Given the description of an element on the screen output the (x, y) to click on. 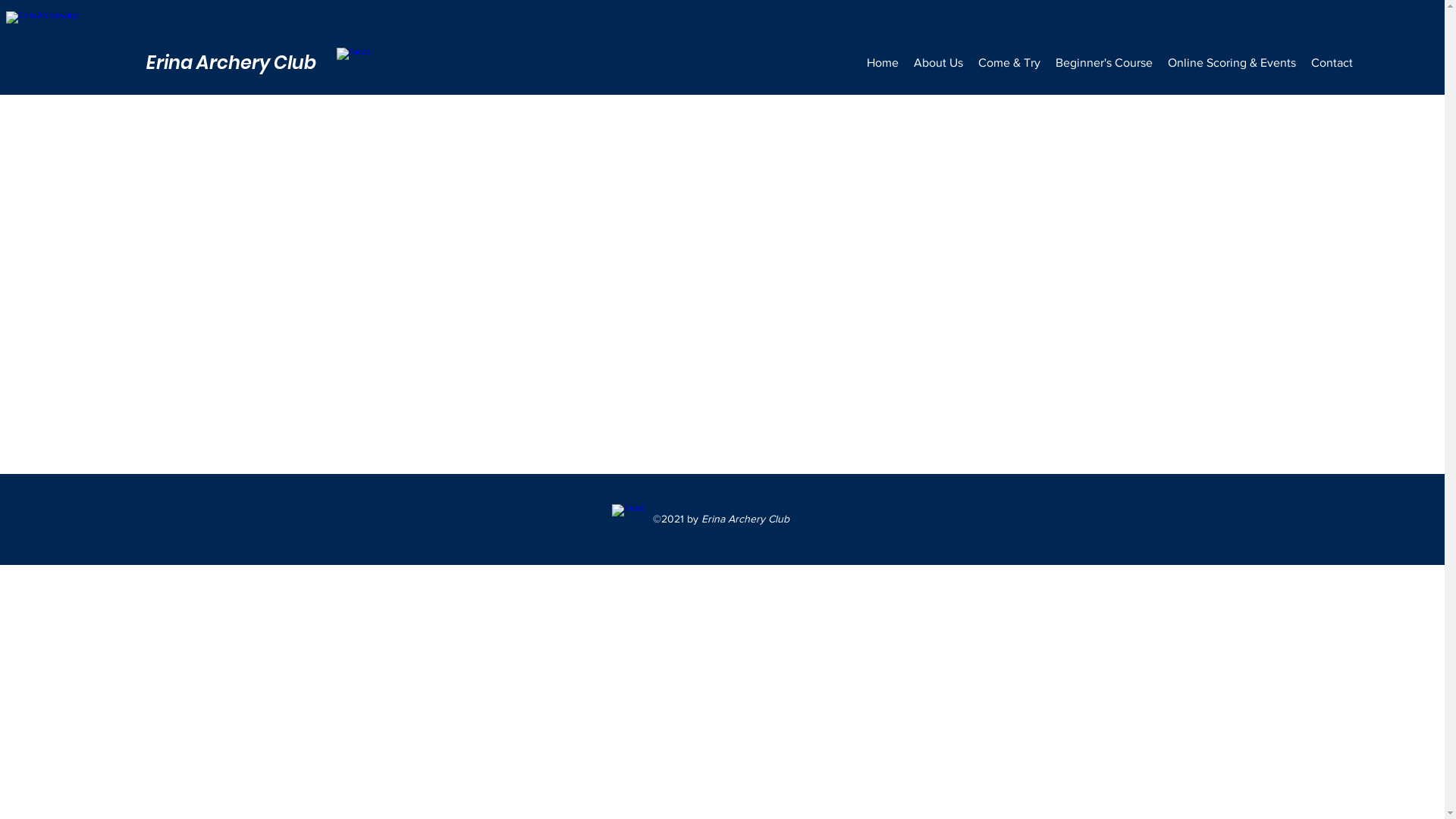
Erina Archery Club Element type: text (231, 62)
About Us Element type: text (937, 62)
Beginner's Course Element type: text (1104, 62)
Home Element type: text (881, 62)
Online Scoring & Events Element type: text (1231, 62)
Contact Element type: text (1330, 62)
Come & Try Element type: text (1009, 62)
